Given the description of an element on the screen output the (x, y) to click on. 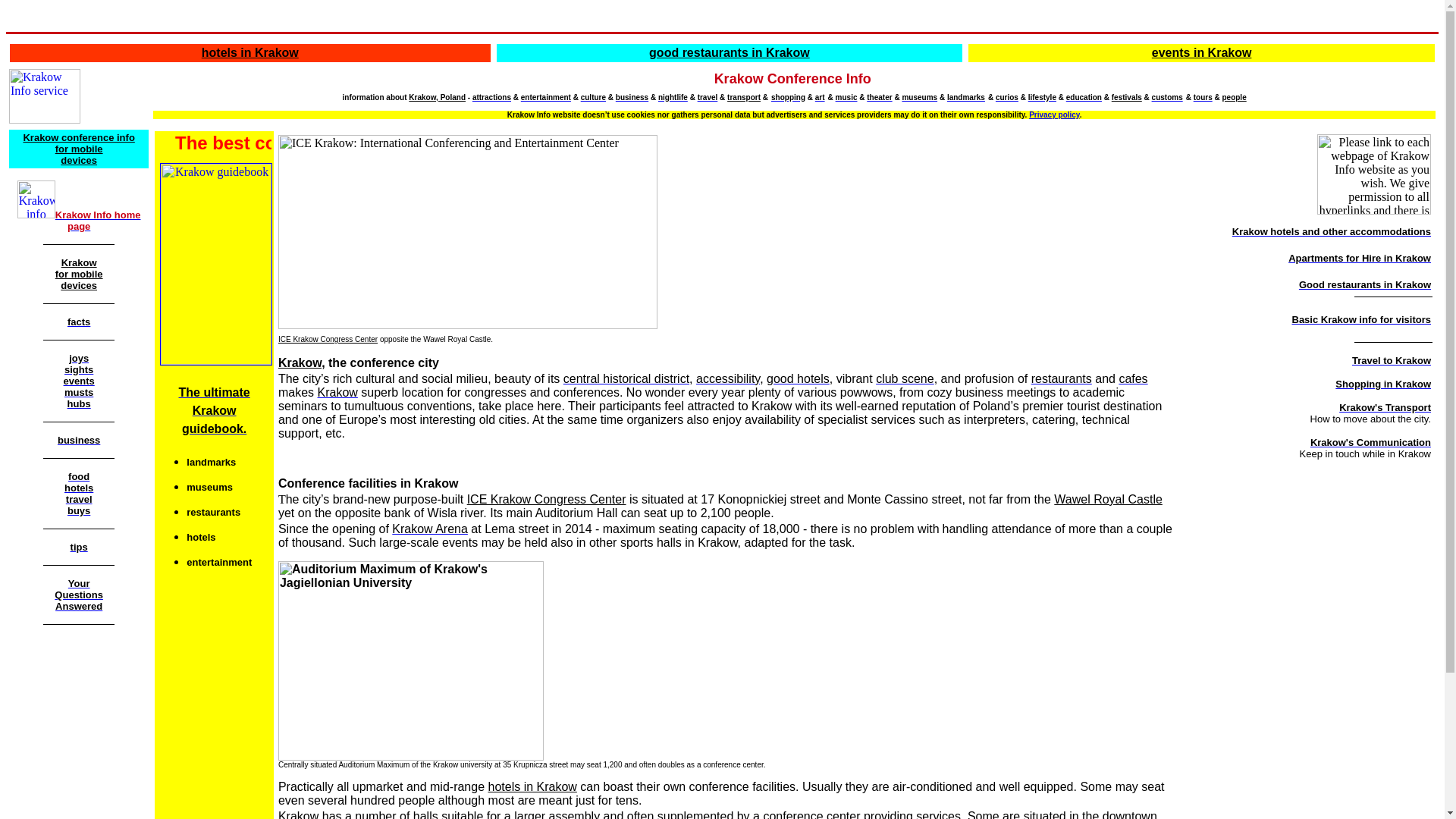
Krakow Info home page (98, 219)
travel (707, 95)
events (79, 379)
transport (743, 97)
hotels in Krakow (250, 51)
education (1083, 95)
nightlife (672, 95)
Krakow Info (44, 95)
Krakow, Poland (437, 97)
culture (592, 95)
customs (1166, 95)
curios (1006, 95)
music (846, 95)
joys (78, 357)
attractions (491, 95)
